Given the description of an element on the screen output the (x, y) to click on. 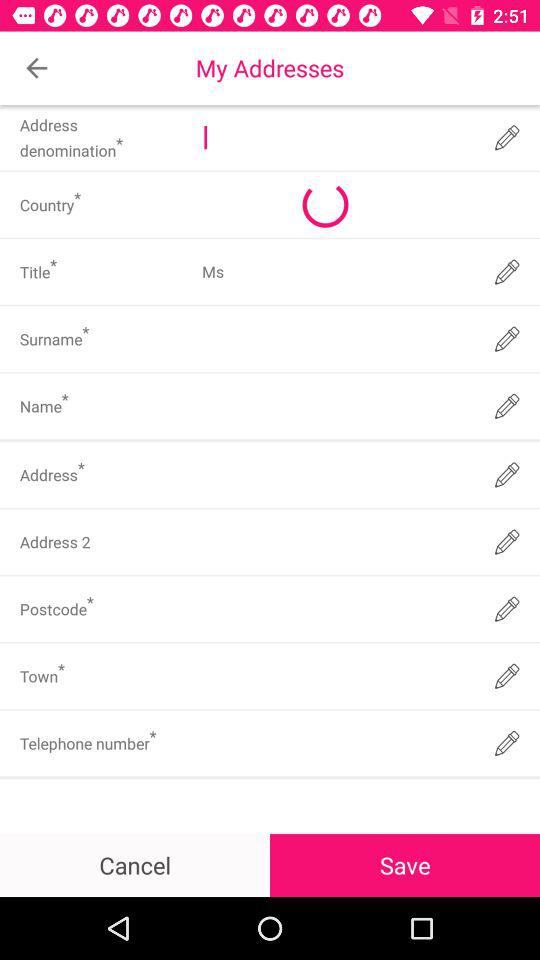
input information (335, 676)
